Given the description of an element on the screen output the (x, y) to click on. 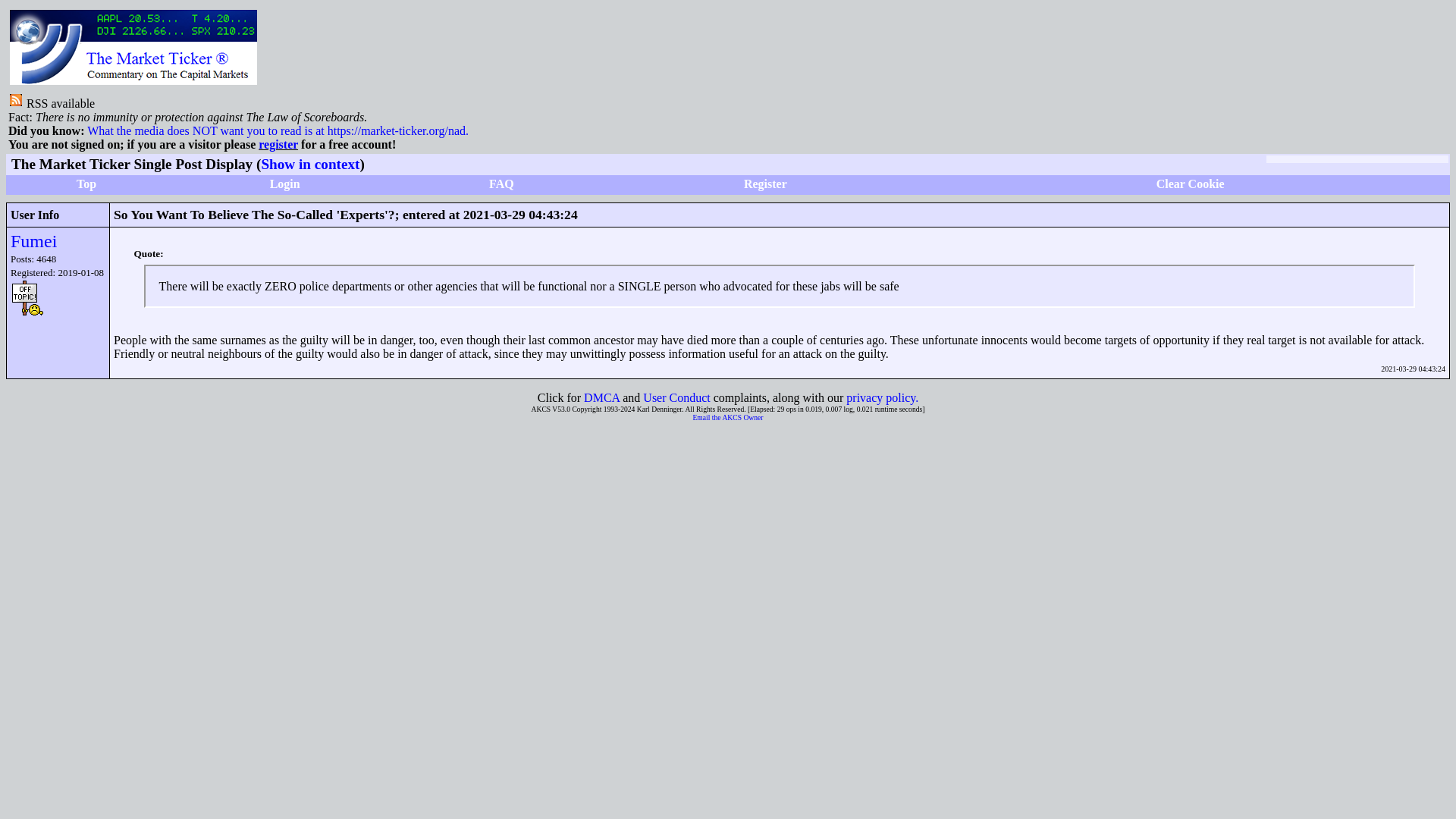
register (278, 144)
Top (86, 183)
Login (284, 183)
Clear Cookie (1190, 183)
Register (765, 183)
FAQ (501, 183)
Fumei (33, 240)
DMCA (601, 397)
Show in context (309, 163)
privacy policy. (881, 397)
User Conduct (676, 397)
